Given the description of an element on the screen output the (x, y) to click on. 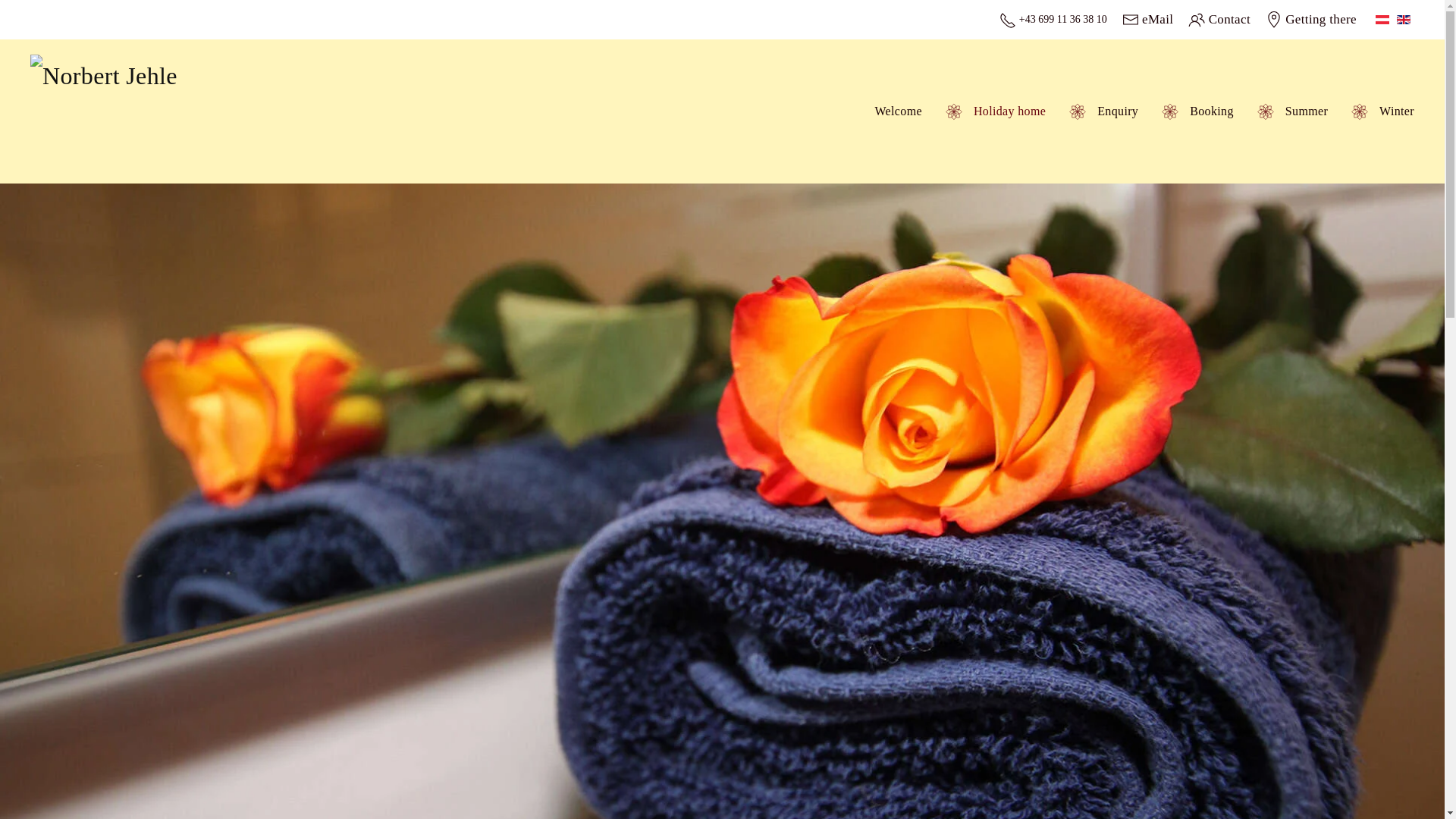
Winter (1382, 111)
Getting there (1310, 19)
Holiday home (994, 111)
Deutsch (1382, 19)
Summer (1291, 111)
Booking (1196, 111)
eMail (1147, 19)
Contact (1219, 19)
Enquiry (1103, 111)
English (1403, 19)
